Given the description of an element on the screen output the (x, y) to click on. 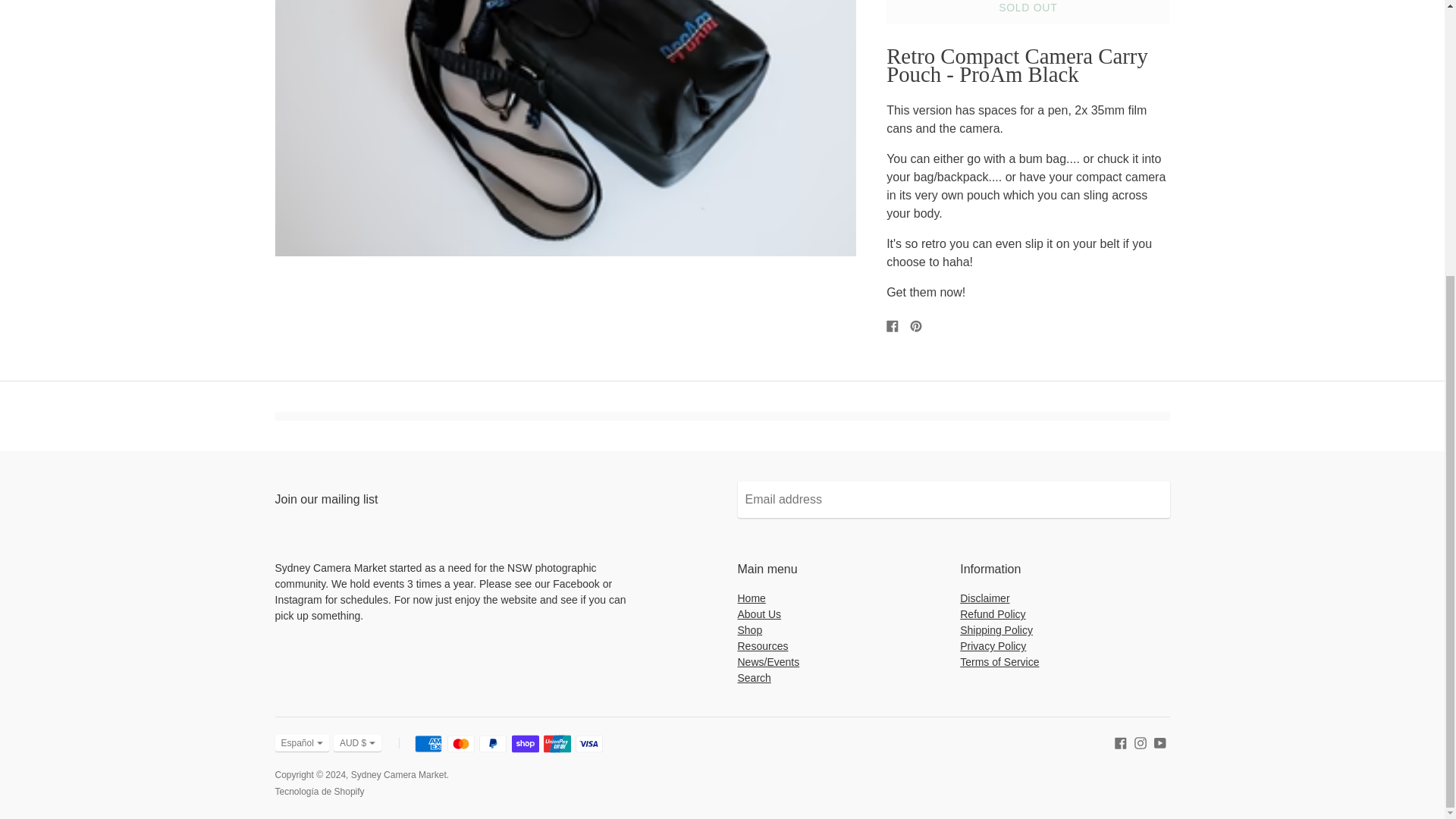
Union Pay (556, 743)
Sydney Camera Market on Facebook (1120, 741)
PayPal (492, 743)
Visa (588, 743)
Mastercard (460, 743)
Shop Pay (525, 743)
Sydney Camera Market on YouTube (1160, 741)
Sydney Camera Market on Instagram (1140, 741)
American Express (428, 743)
